Given the description of an element on the screen output the (x, y) to click on. 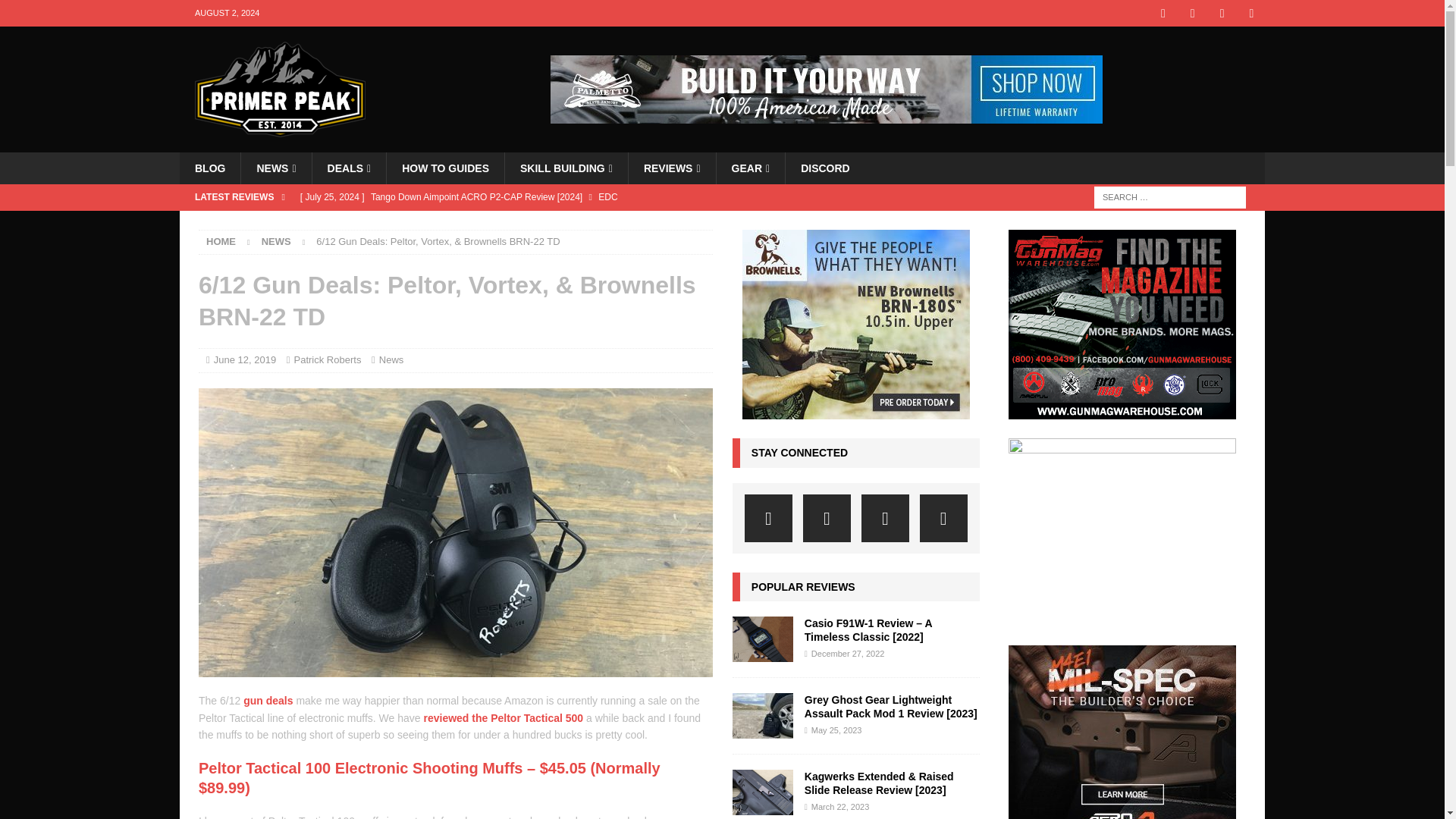
GEAR (751, 168)
DISCORD (824, 168)
SKILL BUILDING (565, 168)
HOW TO GUIDES (444, 168)
NEWS (275, 168)
REVIEWS (671, 168)
News (276, 241)
BLOG (209, 168)
Home (220, 241)
DEALS (349, 168)
